Given the description of an element on the screen output the (x, y) to click on. 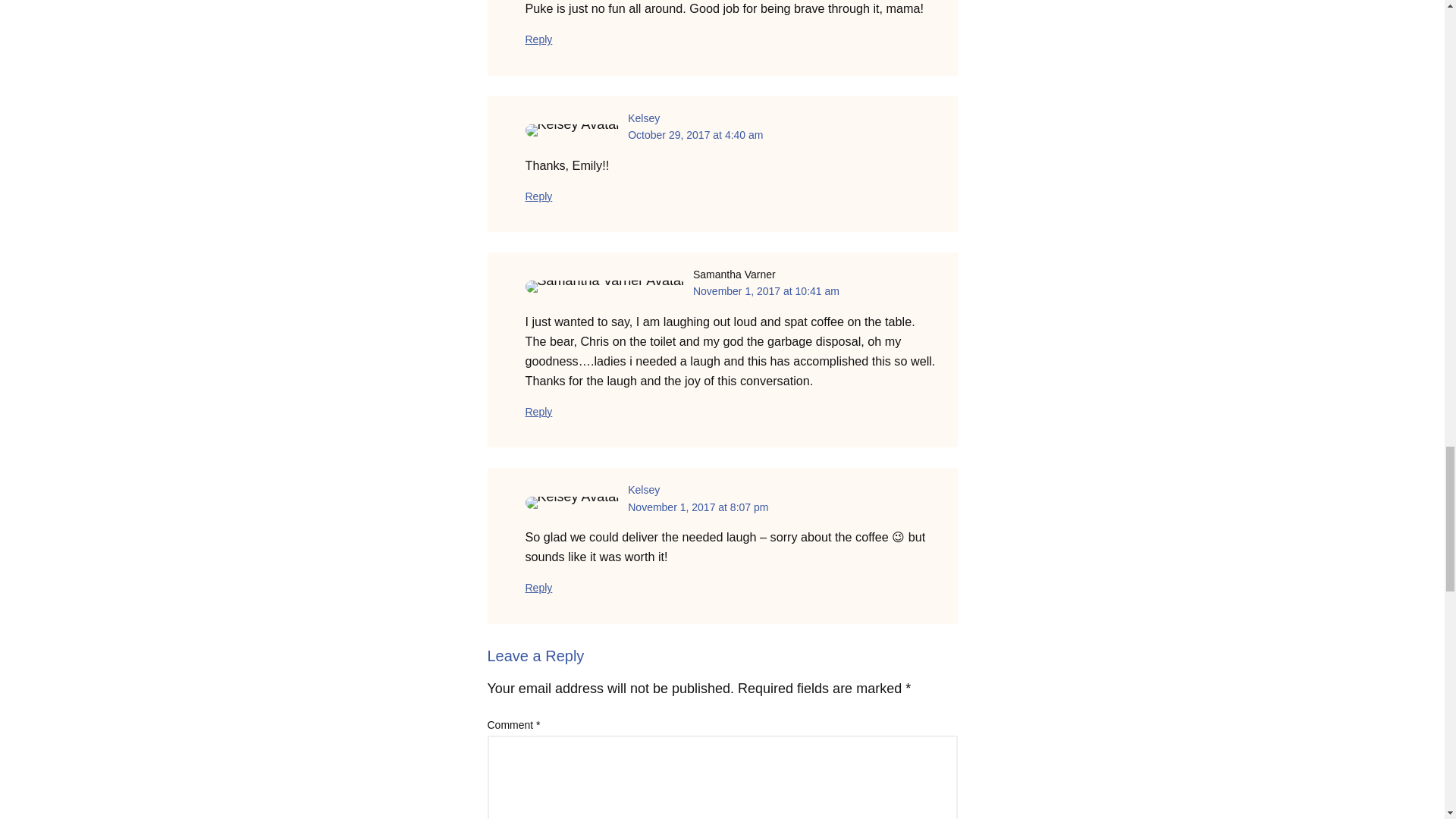
Reply (537, 587)
November 1, 2017 at 8:07 pm (697, 507)
Kelsey (643, 490)
October 29, 2017 at 4:40 am (694, 134)
November 1, 2017 at 10:41 am (766, 291)
Kelsey (643, 118)
Reply (537, 411)
Reply (537, 196)
Reply (537, 39)
